Given the description of an element on the screen output the (x, y) to click on. 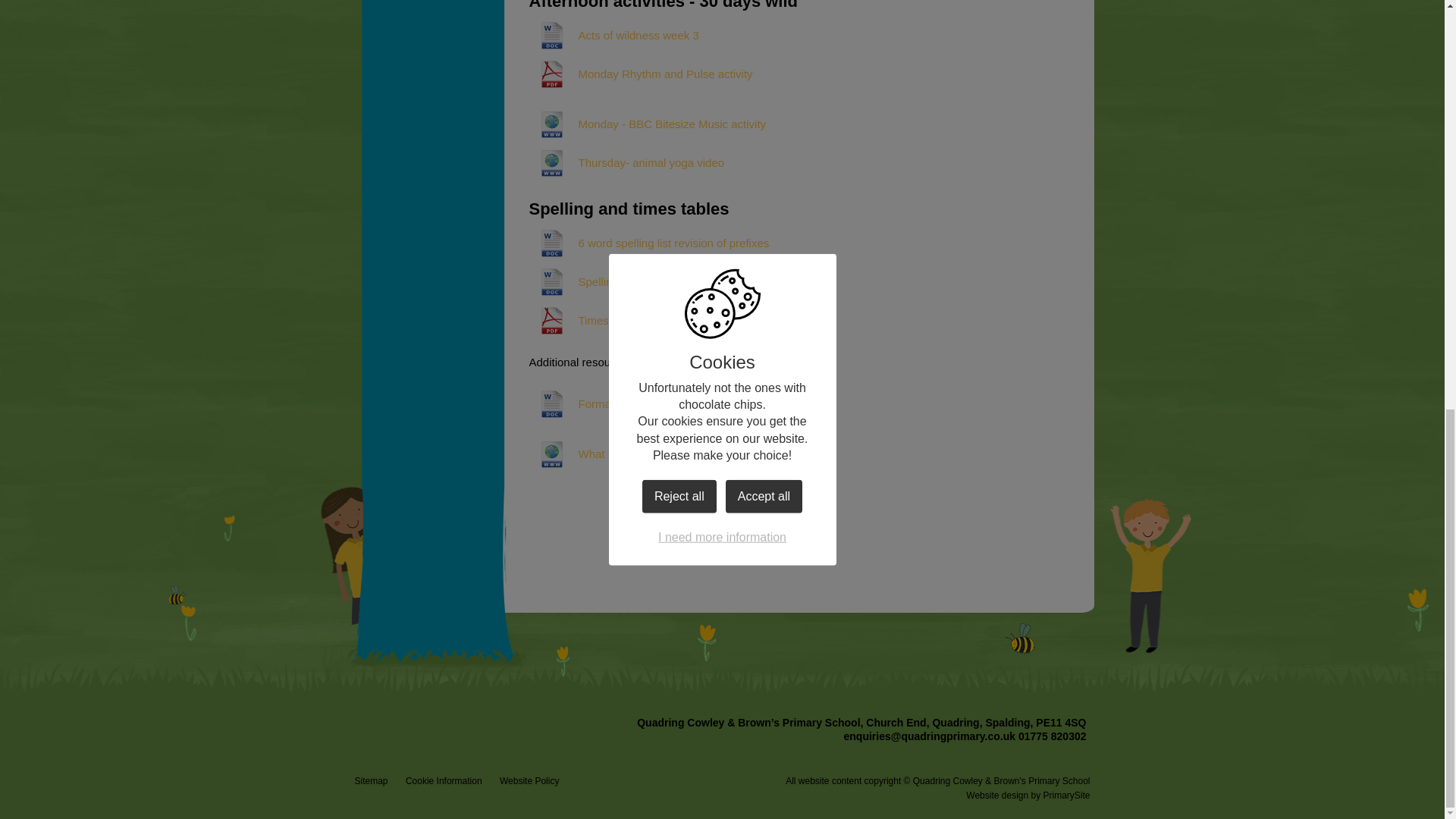
Acts of wildness week 3 (613, 35)
What is a balanced argument (627, 453)
Monday Rhythm and Pulse activity (640, 73)
Thursday- animal yoga video (627, 162)
Times table practice (604, 320)
6 word spelling list revision of prefixes (649, 243)
Monday - BBC Bitesize Music activity (648, 124)
Formal letter planning sheet (624, 403)
Spelling practise revision of prefixes (644, 281)
